Given the description of an element on the screen output the (x, y) to click on. 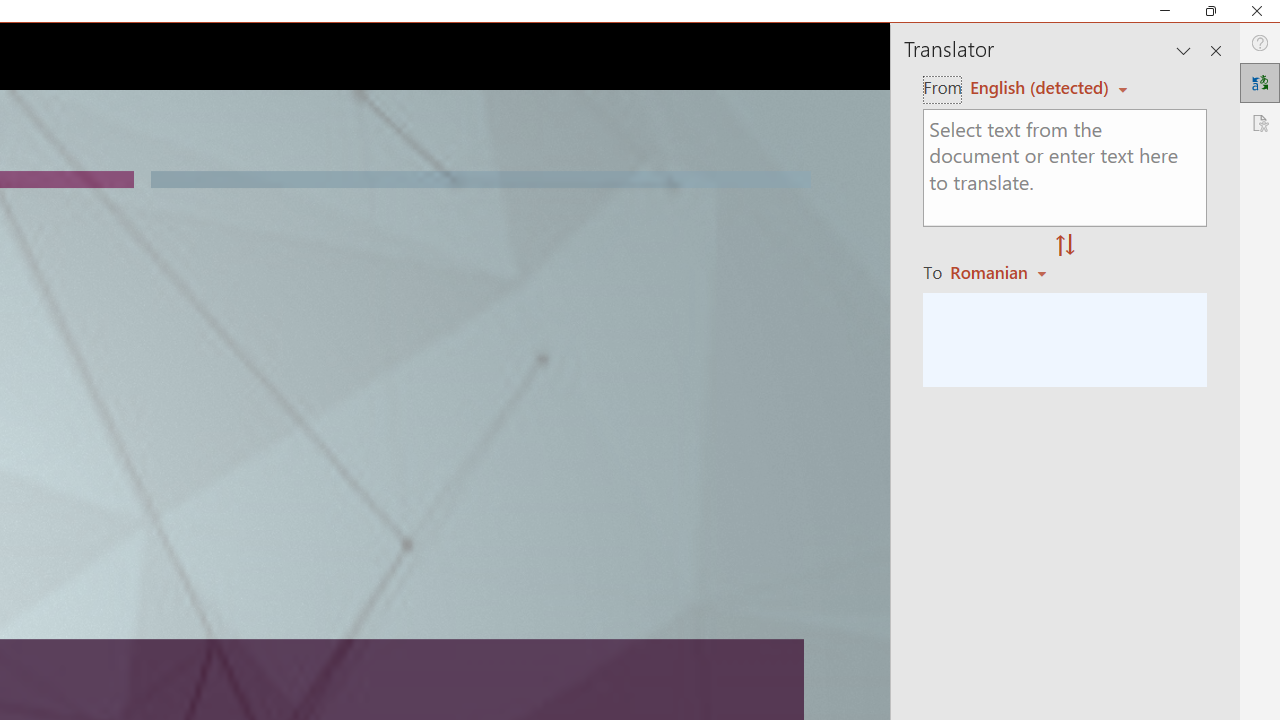
Czech (detected) (1039, 87)
Romanian (1001, 272)
